Given the description of an element on the screen output the (x, y) to click on. 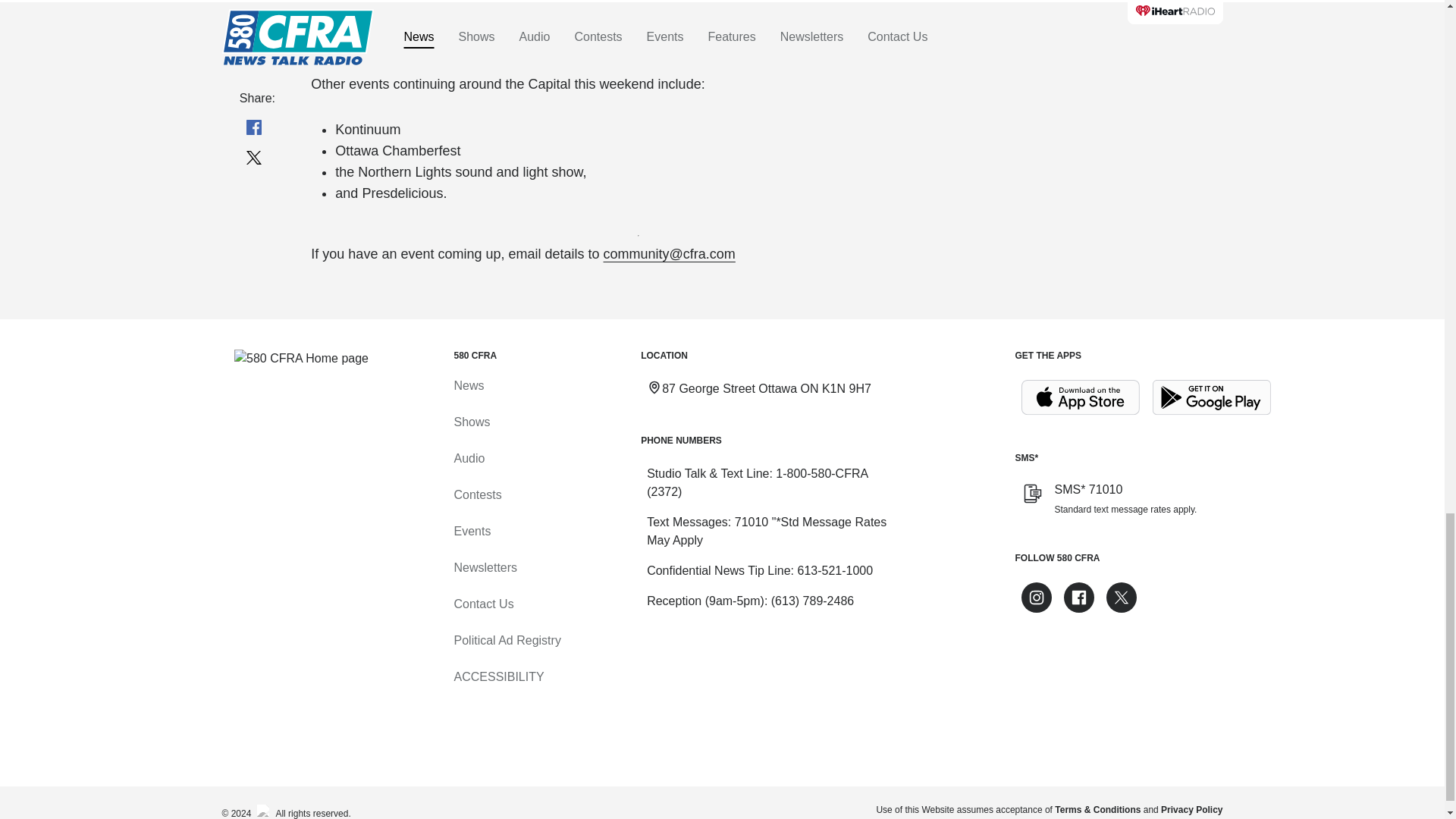
Accessibility (497, 676)
Newsletters (484, 567)
Presdelicious (401, 192)
Get it on Google Play (1212, 397)
Northern Lights (404, 171)
News (467, 385)
Audio (468, 458)
Political Ad Registry (506, 640)
Ottawa Chamberfest (397, 150)
Contests (476, 494)
